Given the description of an element on the screen output the (x, y) to click on. 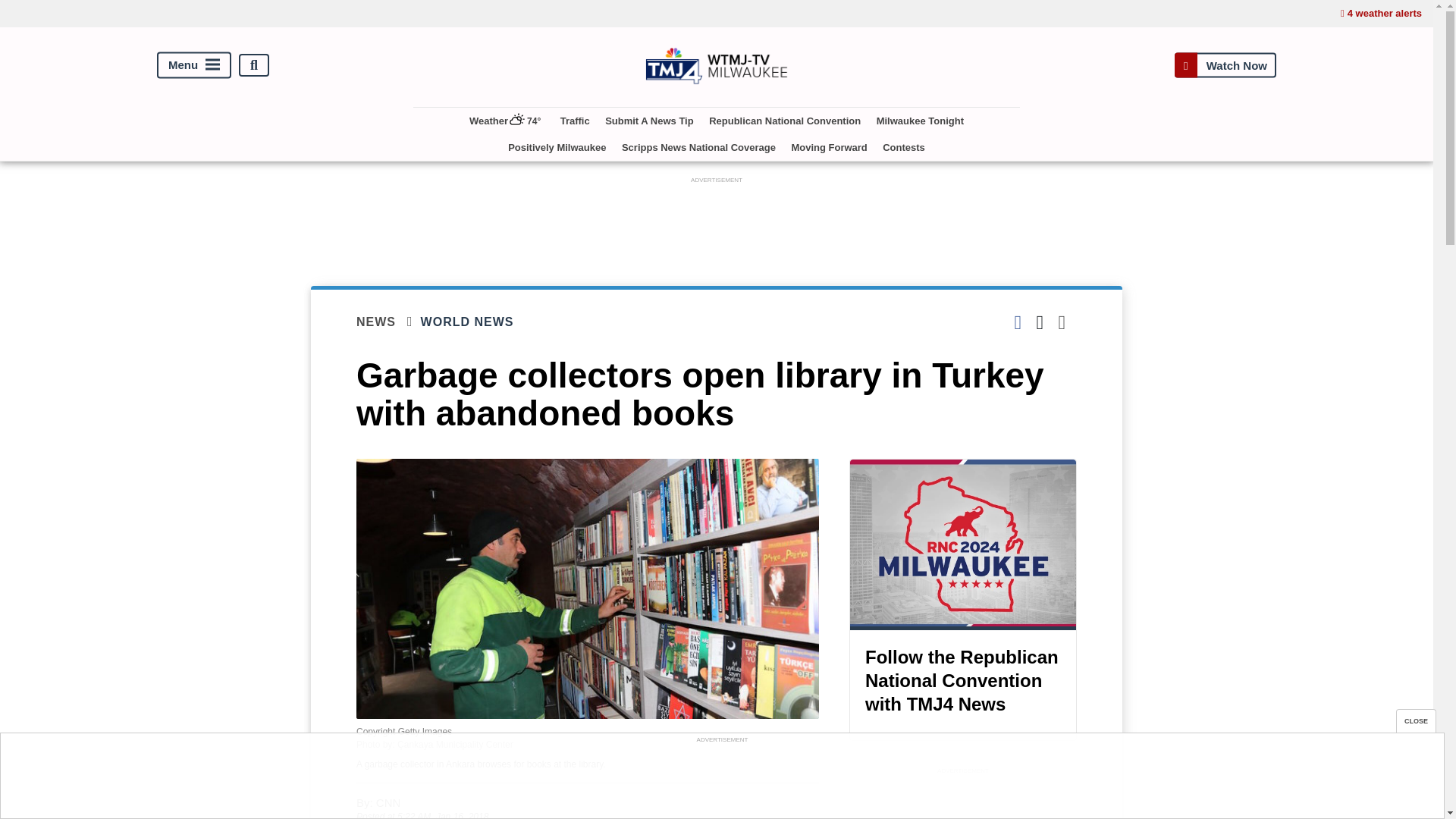
3rd party ad content (962, 798)
Watch Now (1224, 65)
3rd party ad content (716, 221)
3rd party ad content (721, 780)
Menu (194, 65)
